Given the description of an element on the screen output the (x, y) to click on. 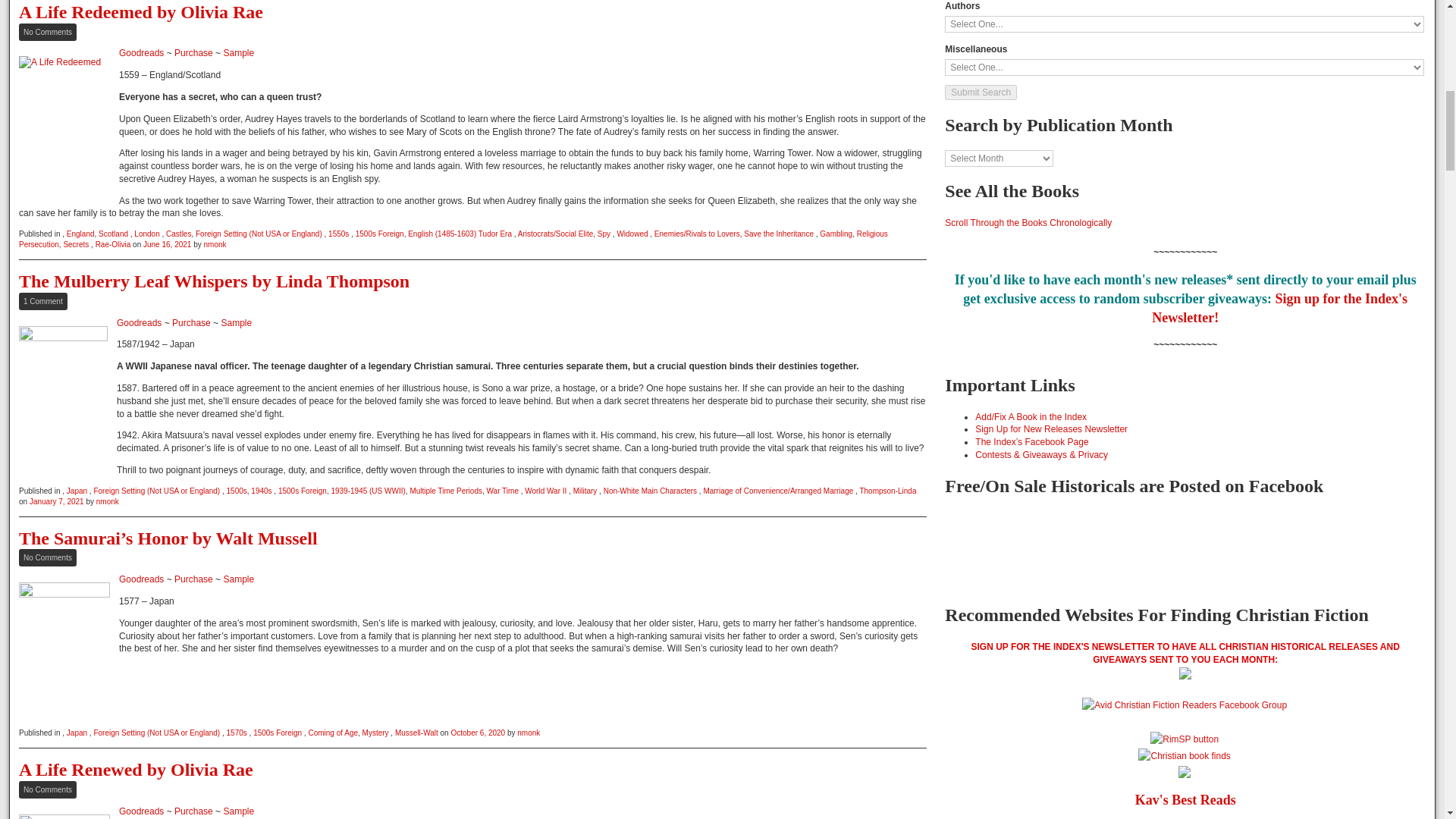
12:23 am (477, 732)
Permalink to The Mulberry Leaf Whispers by Linda Thompson (213, 281)
Permalink to A Life Redeemed by Olivia Rae (140, 12)
Permalink to A Life Renewed by Olivia Rae (135, 769)
11:54 am (56, 501)
Submit Search (980, 92)
2:26 pm (166, 244)
read (64, 816)
